Given the description of an element on the screen output the (x, y) to click on. 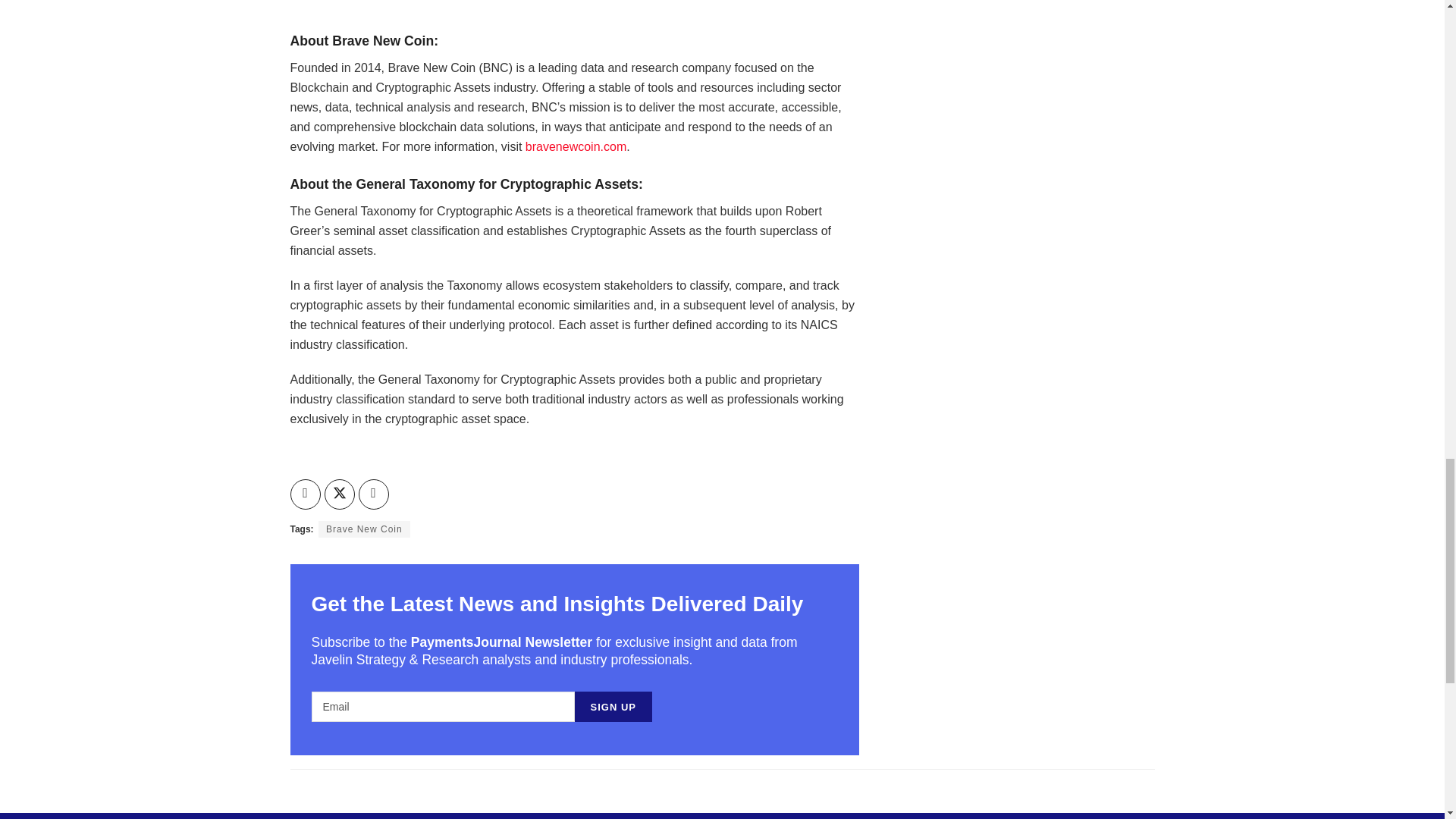
bravenewcoin.com (575, 146)
Email (442, 706)
Sign Up (613, 706)
